Given the description of an element on the screen output the (x, y) to click on. 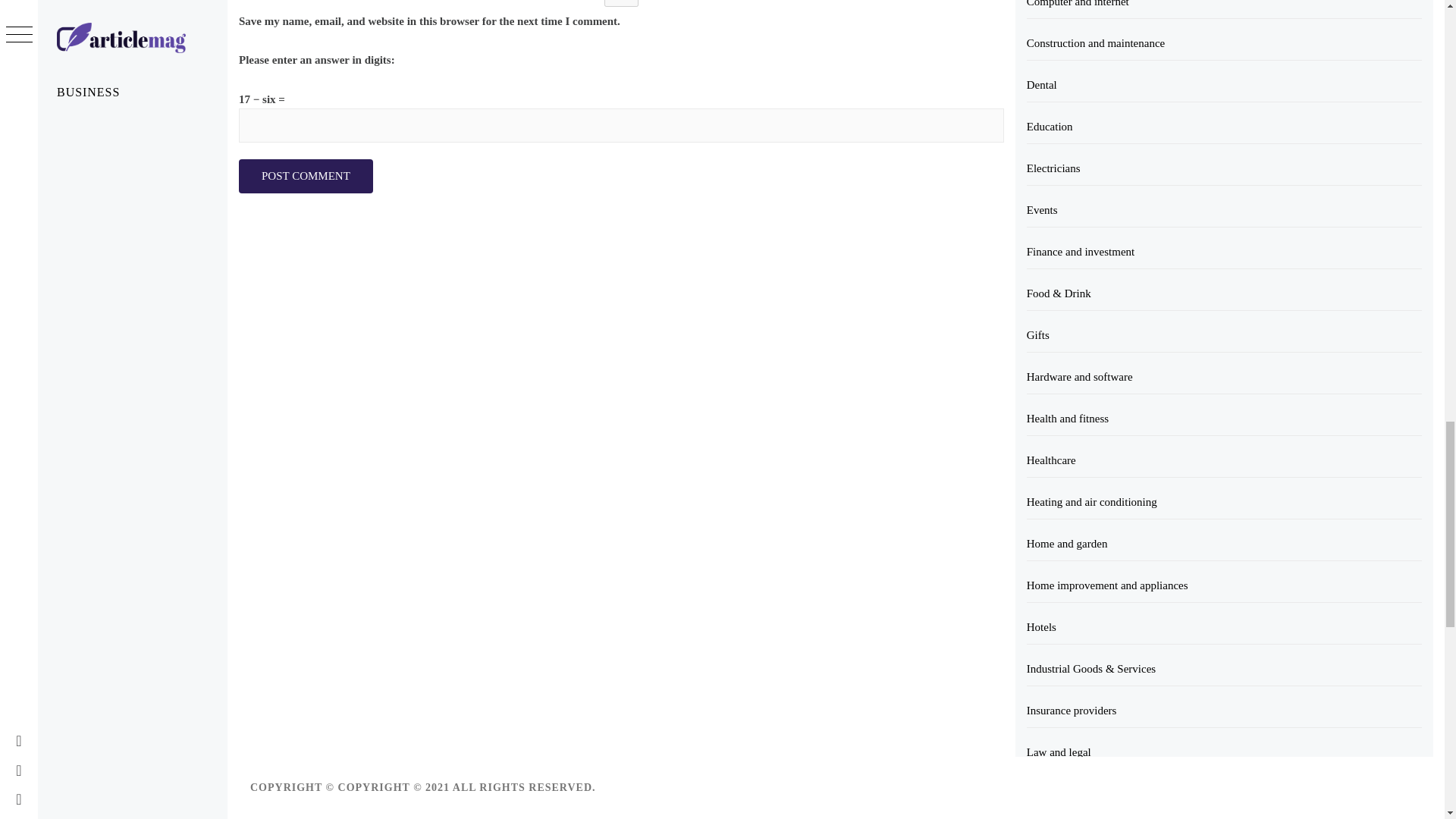
Post Comment (305, 175)
Post Comment (305, 175)
